Given the description of an element on the screen output the (x, y) to click on. 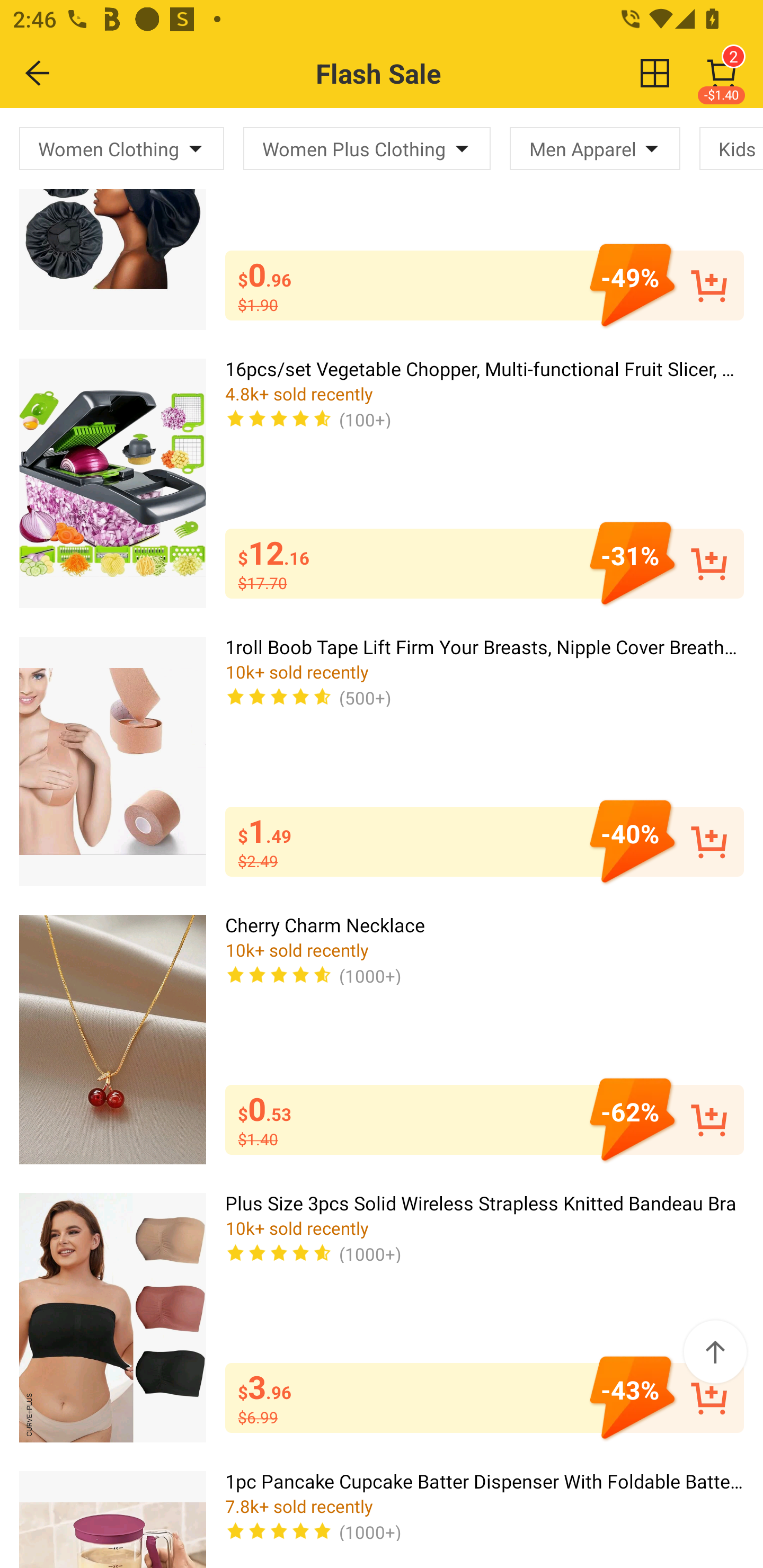
Flash Sale change view 2 -$1.40 (419, 72)
2 -$1.40 (721, 72)
change view (654, 72)
BACK (38, 72)
Women Clothing (121, 148)
Women Plus Clothing (366, 148)
Men Apparel (594, 148)
Kids (731, 148)
Cherry Charm Necklace (112, 1039)
Back to top (714, 1351)
